Given the description of an element on the screen output the (x, y) to click on. 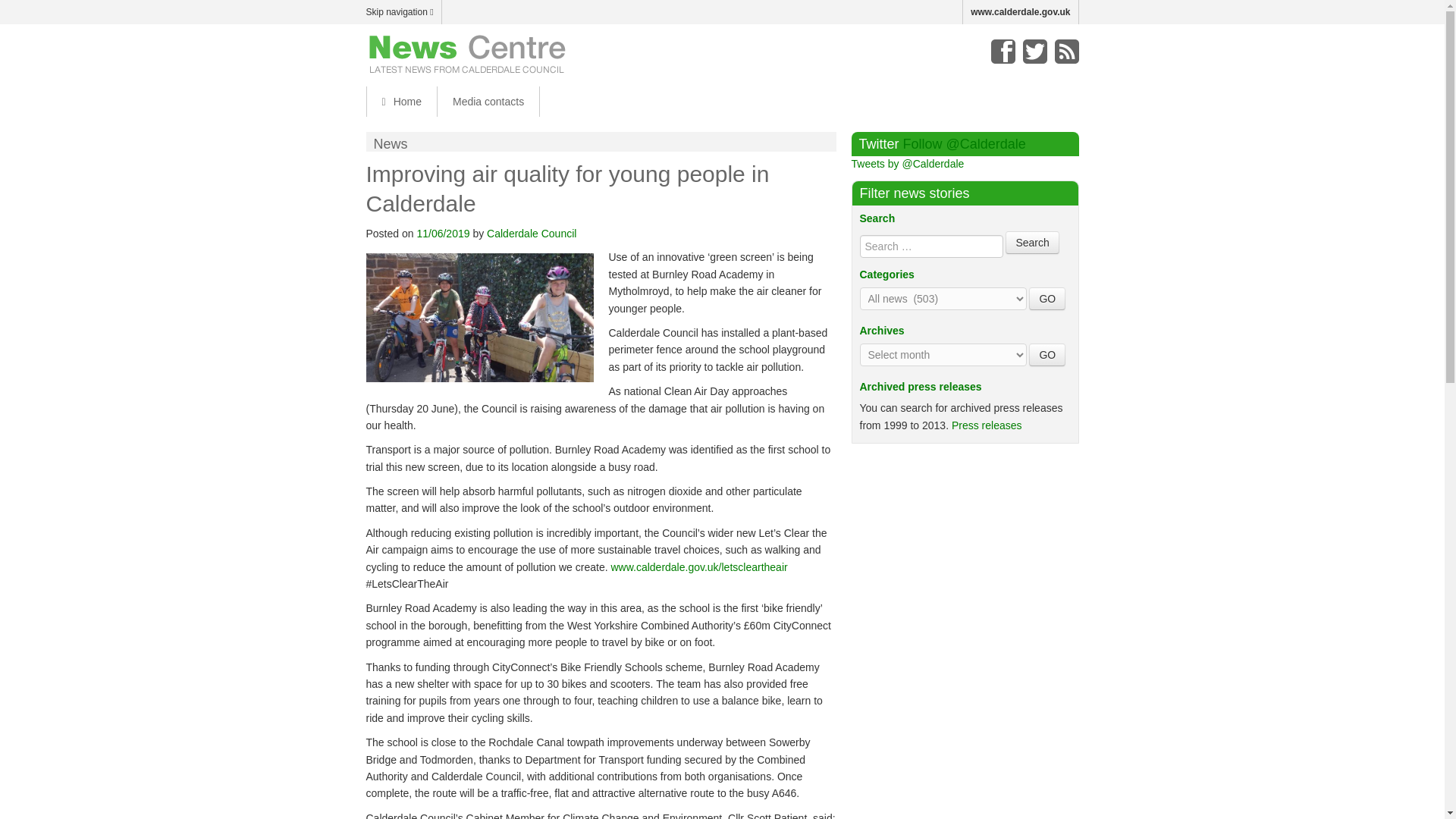
GO (1047, 298)
10:49 am (442, 233)
Twitter (1034, 51)
Media contacts (489, 101)
Skip navigation (403, 12)
Search (1032, 241)
Press releases (987, 425)
www.calderdale.gov.uk (1020, 12)
Home (400, 101)
View all posts by Calderdale Council (531, 233)
